Given the description of an element on the screen output the (x, y) to click on. 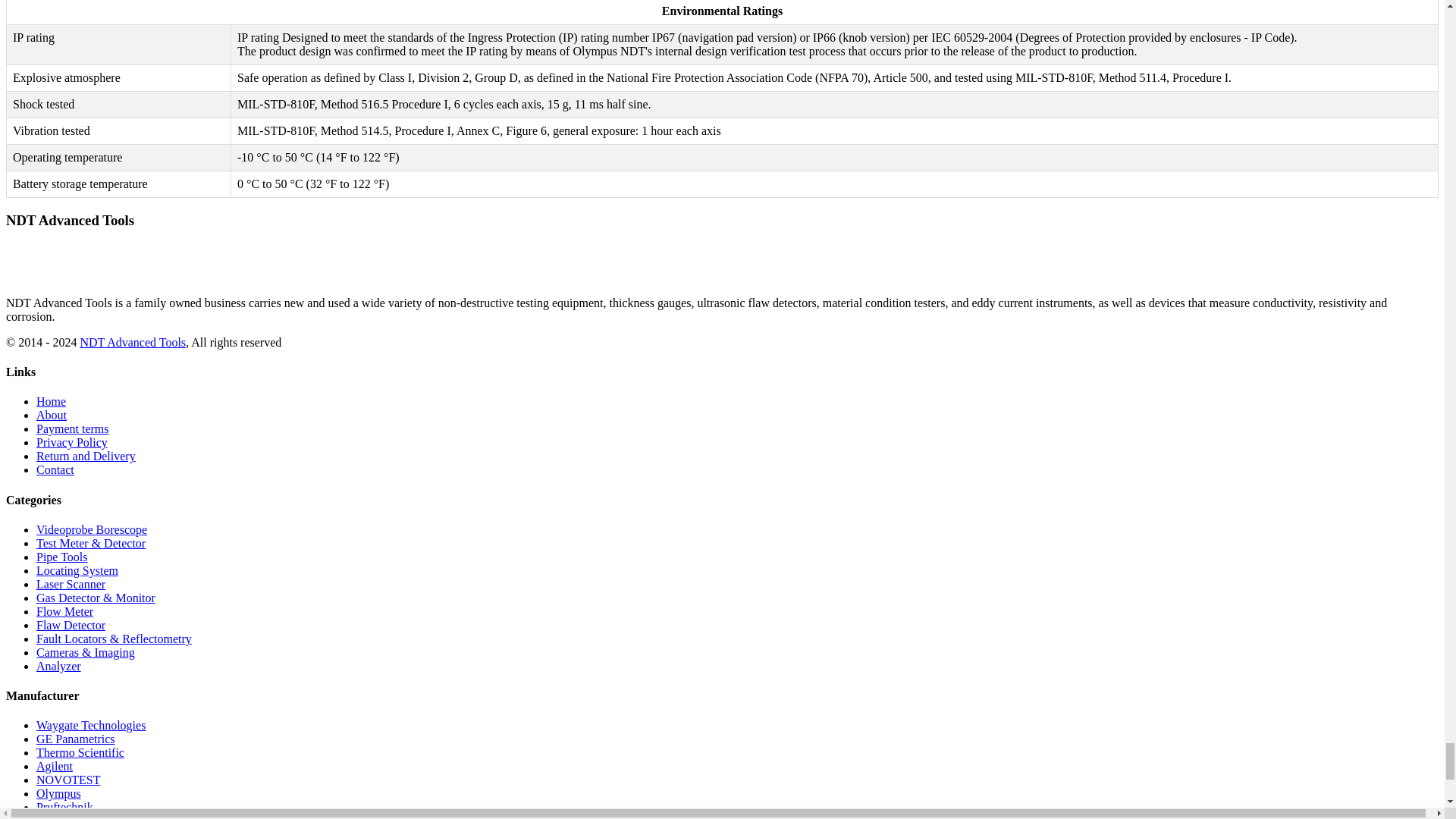
NDT Advanced Tools (133, 341)
Analyzer (58, 666)
Flow Meter (64, 611)
Thermo Scientific (79, 752)
Privacy Policy (71, 441)
Pipe Tools (61, 556)
Pruftechnik (64, 807)
Videoprobe Borescope (91, 529)
About (51, 414)
Contact (55, 469)
Locating System (76, 570)
Home (50, 400)
Payment terms (72, 428)
Agilent (54, 766)
Flaw Detector (70, 625)
